Given the description of an element on the screen output the (x, y) to click on. 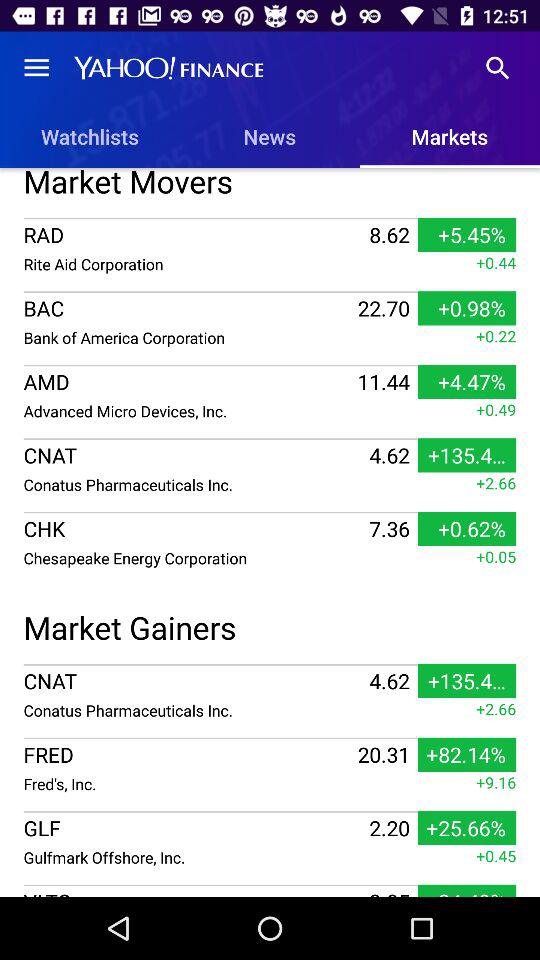
launch icon to the left of 22.70 icon (187, 337)
